Given the description of an element on the screen output the (x, y) to click on. 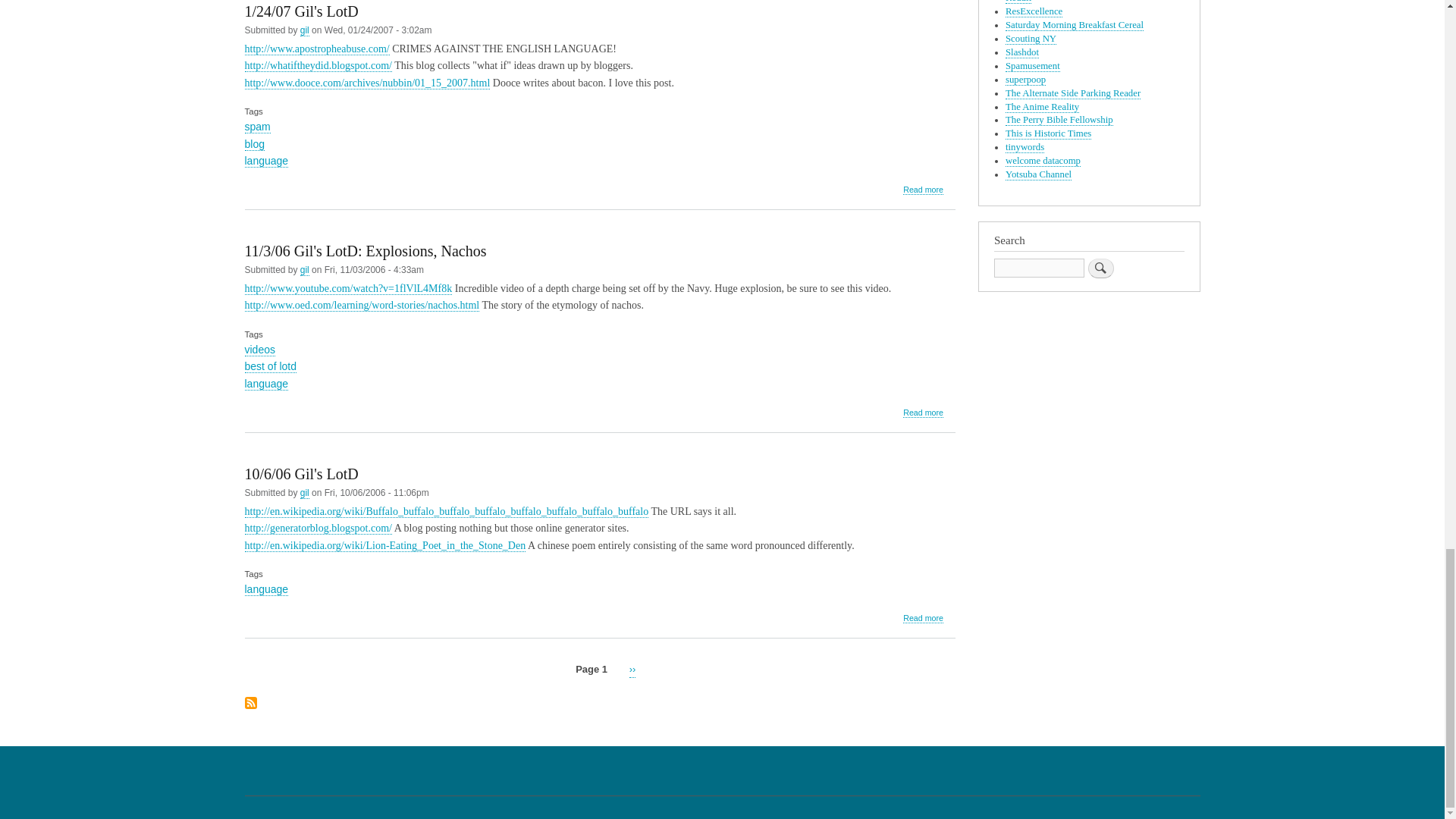
Search (1100, 268)
Search (1100, 268)
